Given the description of an element on the screen output the (x, y) to click on. 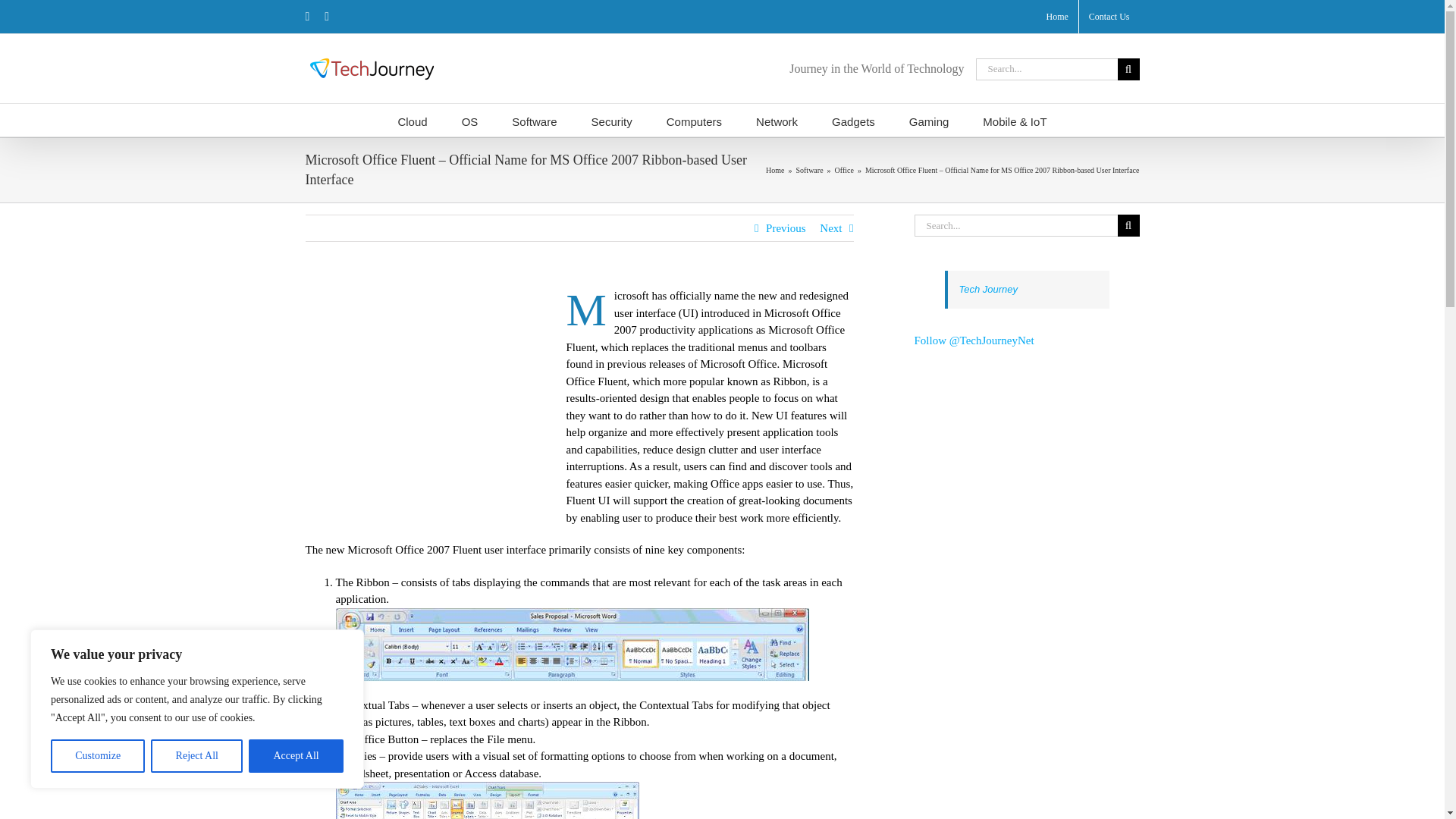
Reject All (197, 756)
Contact Us (1109, 16)
Accept All (295, 756)
Advertisement (431, 399)
Customize (97, 756)
Cloud (411, 120)
Home (1056, 16)
